Given the description of an element on the screen output the (x, y) to click on. 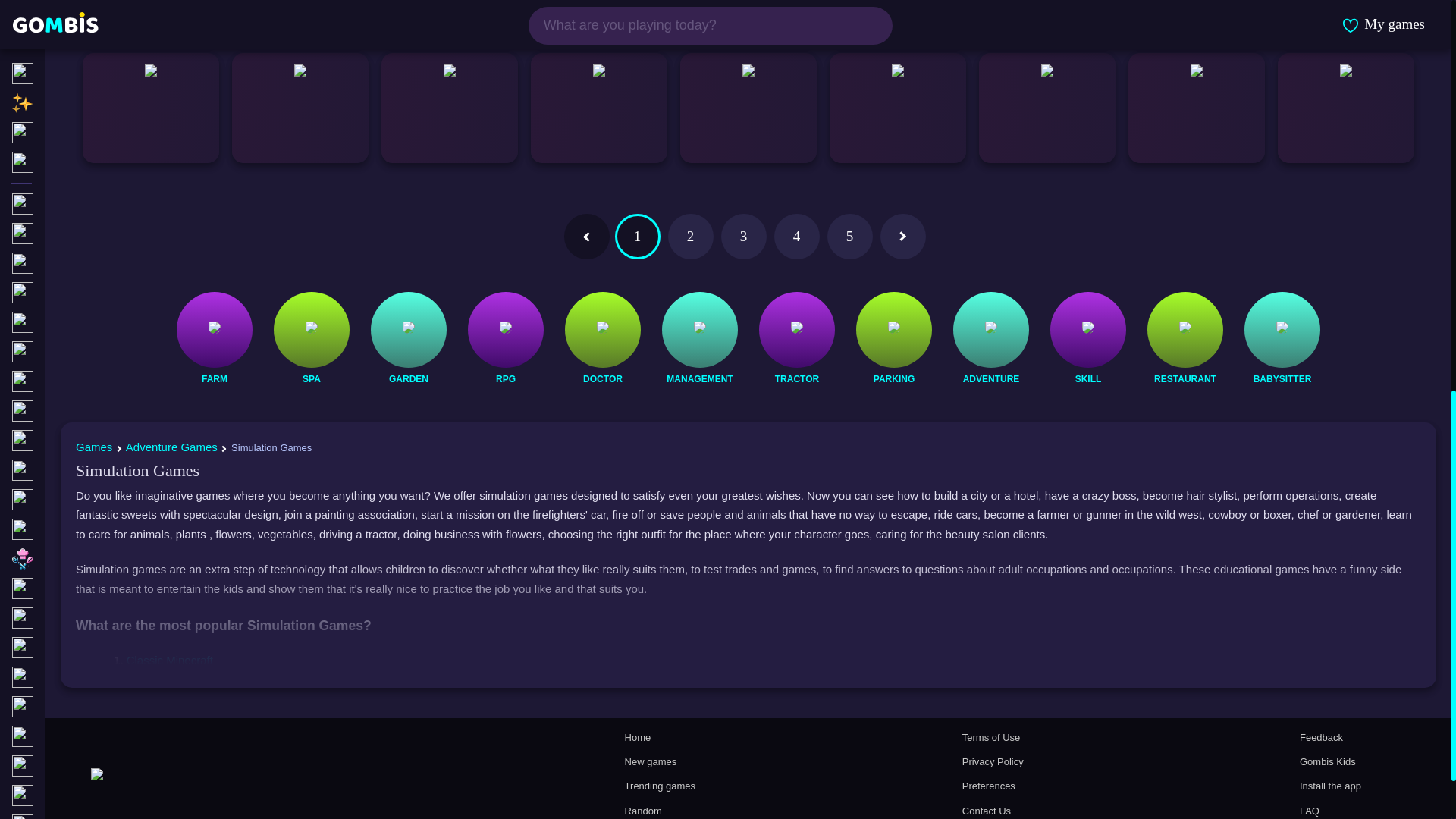
RPG Games (505, 378)
Parking Games (893, 378)
Farm Games (214, 378)
Adventure Games (990, 378)
Garden Games (408, 378)
Skill Games (1087, 378)
Board (84, 9)
Spa Games (311, 378)
Management Games (699, 378)
Tractor Games (796, 378)
